Given the description of an element on the screen output the (x, y) to click on. 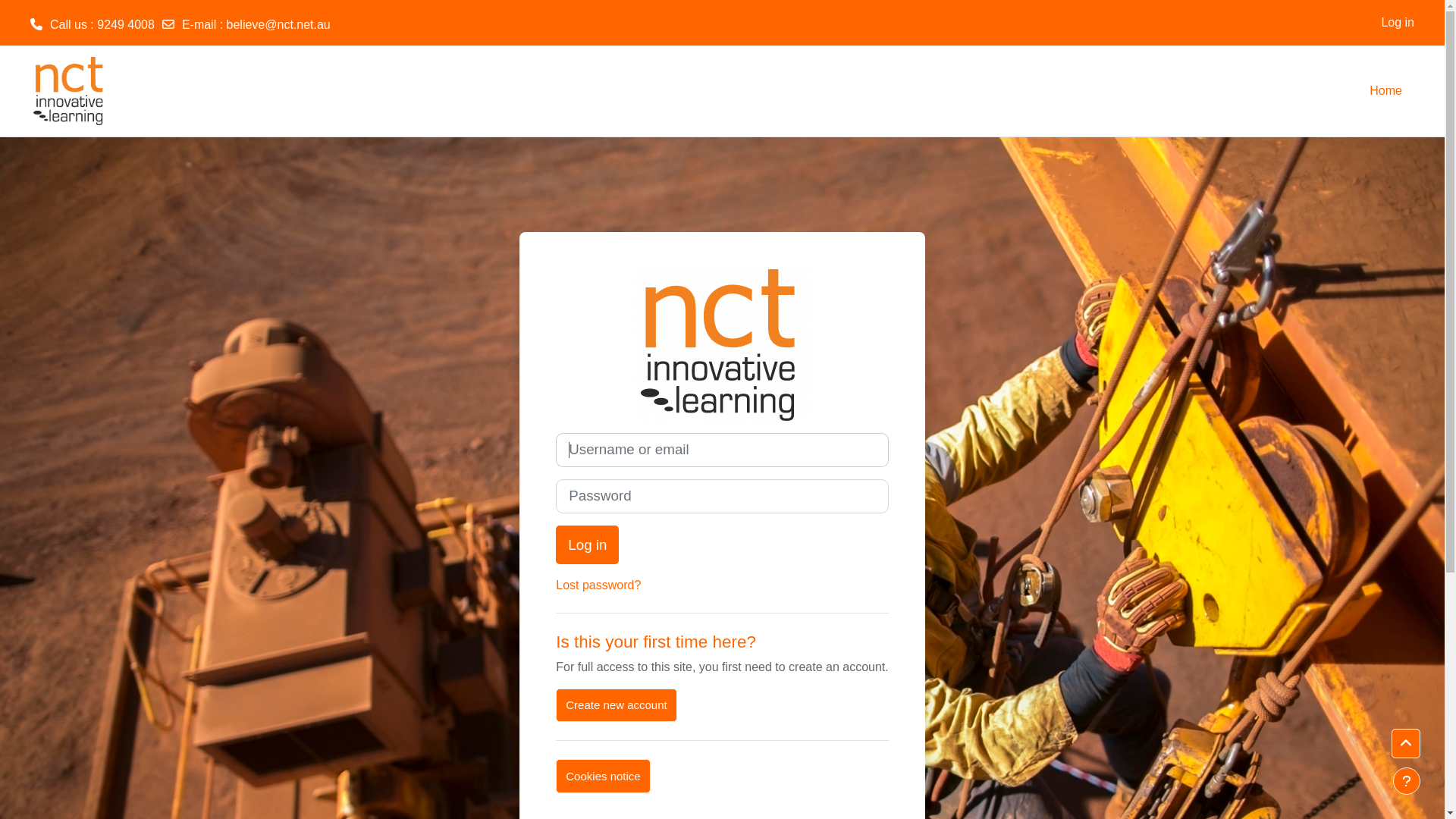
Home Element type: text (1385, 90)
believe@nct.net.au Element type: text (278, 24)
Log in Element type: text (586, 544)
Cookies notice Element type: text (602, 776)
Skip to create new account Element type: text (555, 432)
Lost password? Element type: text (597, 584)
Create new account Element type: text (615, 704)
Log in Element type: text (1397, 22)
